Given the description of an element on the screen output the (x, y) to click on. 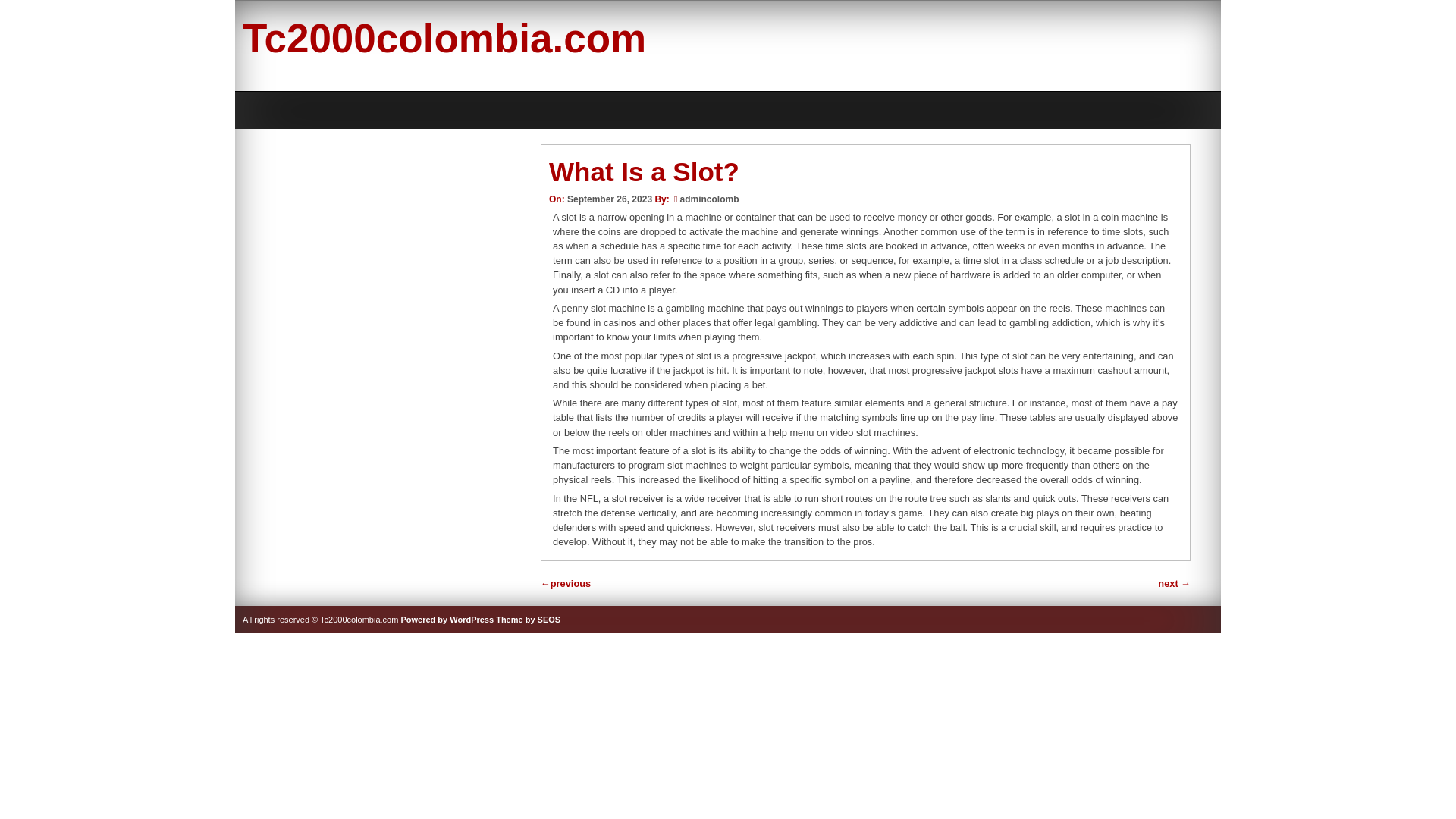
Seos free wordpress themes (528, 619)
admincolomb (708, 199)
September 26, 2023 (609, 199)
Powered by WordPress (446, 619)
Theme by SEOS (528, 619)
Tc2000colombia.com (444, 37)
